Given the description of an element on the screen output the (x, y) to click on. 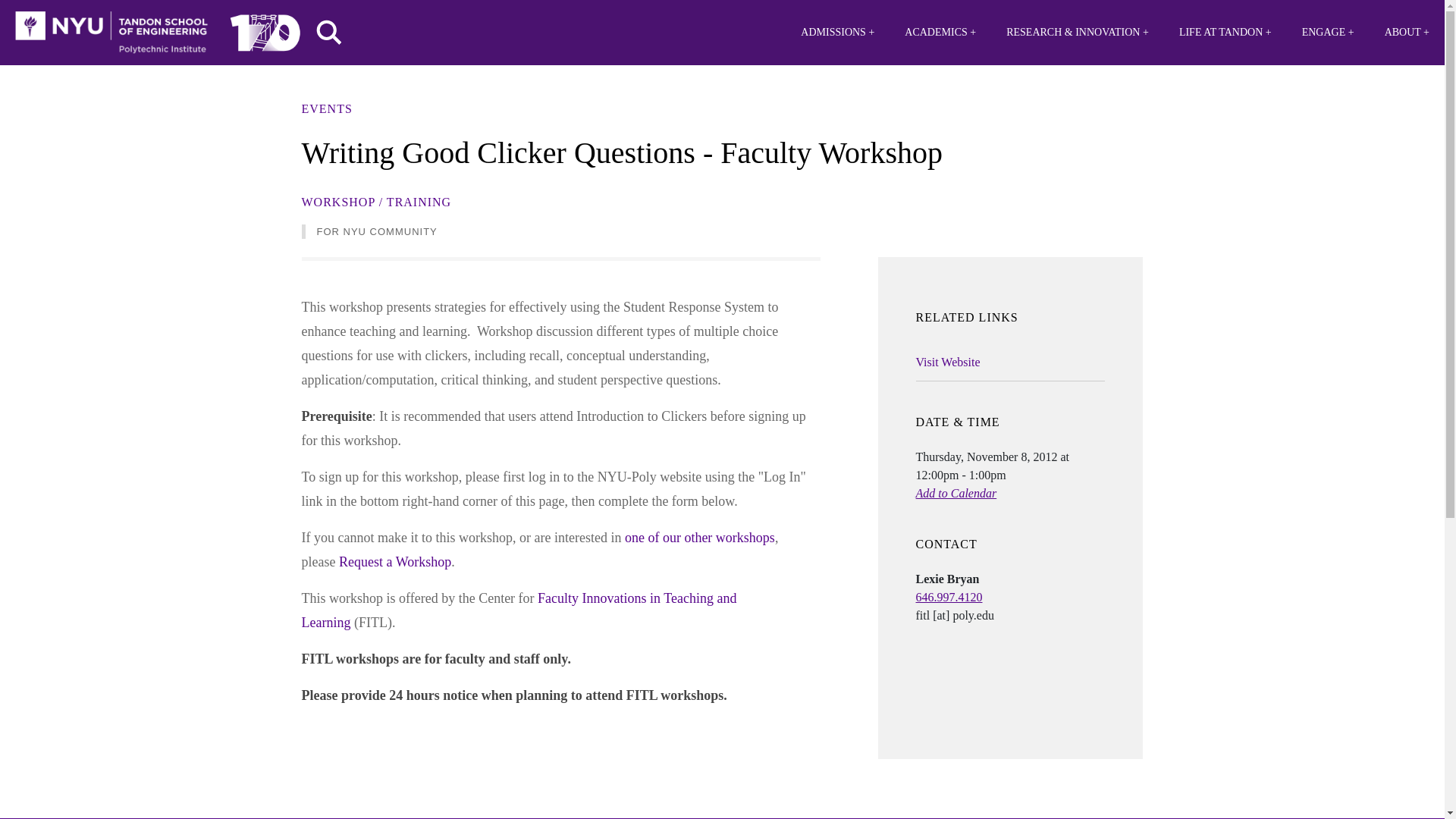
NYU Tandon School of Engineering - Polytechnic Institute (111, 32)
NYU Tandon Logo (111, 32)
NYU Tandon Anniversary (264, 29)
